Given the description of an element on the screen output the (x, y) to click on. 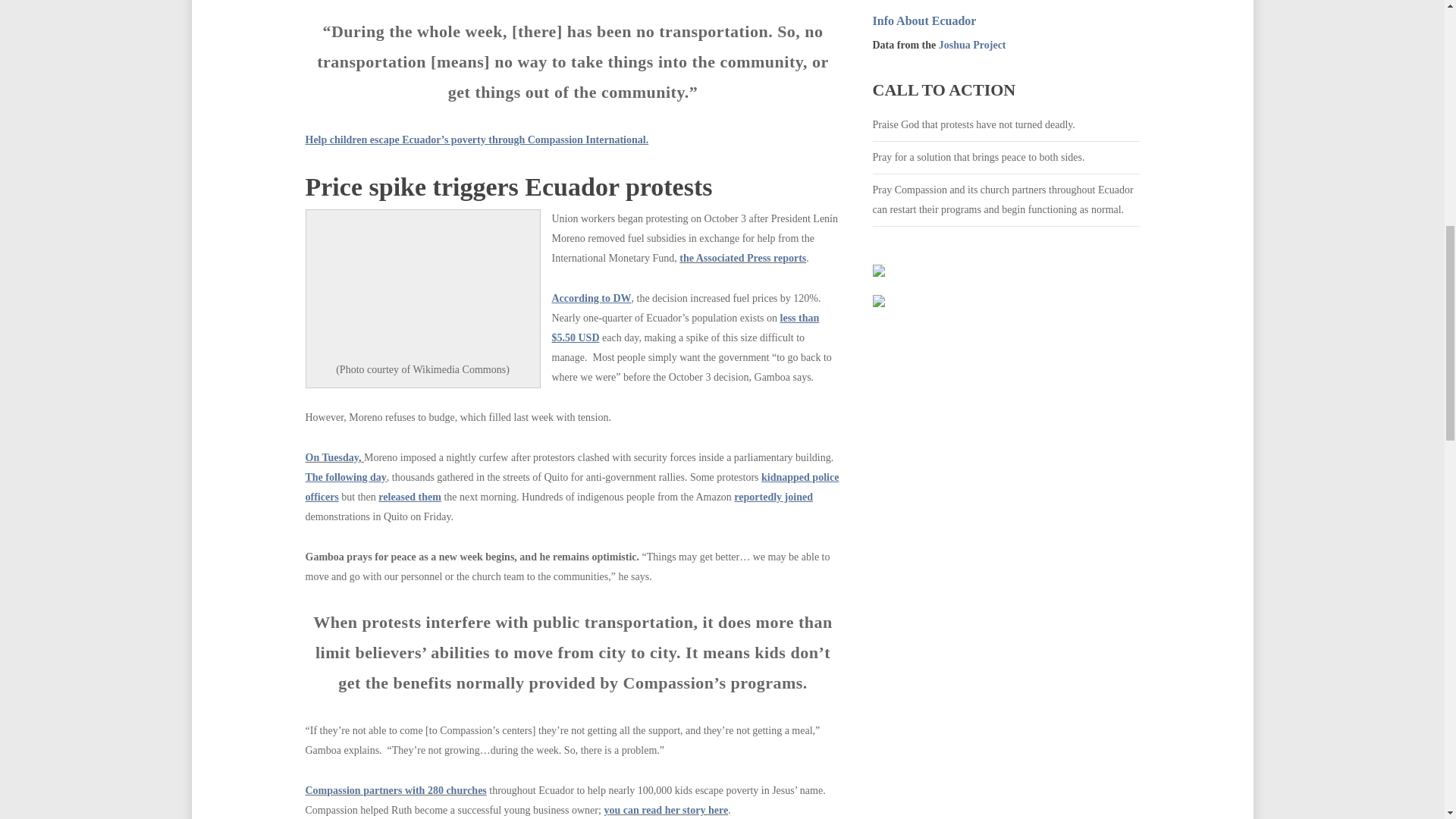
On Tuesday (331, 457)
the Associated Press reports (742, 257)
According to DW (591, 297)
